Given the description of an element on the screen output the (x, y) to click on. 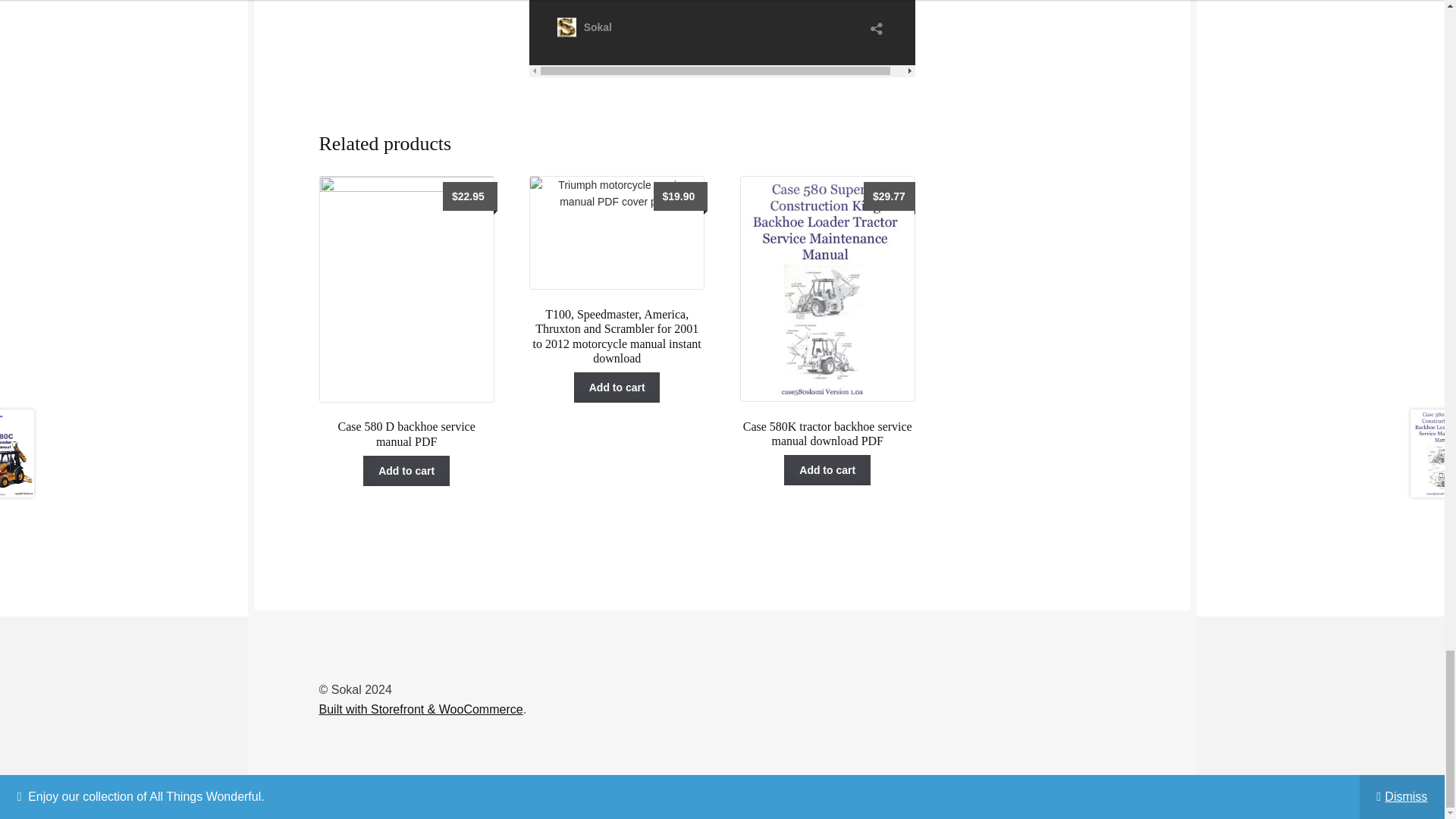
WooCommerce - The Best eCommerce Platform for WordPress (420, 708)
